Given the description of an element on the screen output the (x, y) to click on. 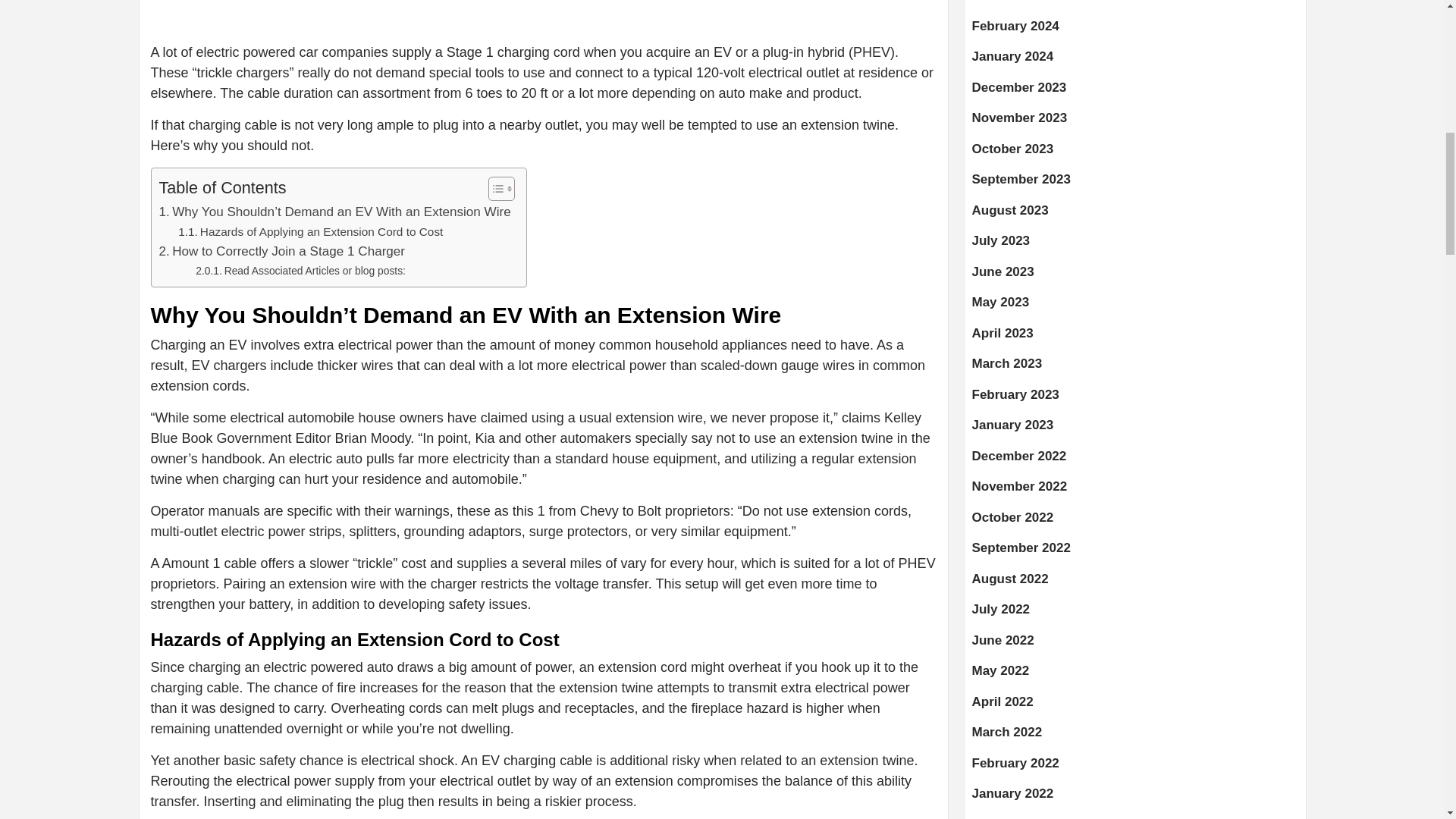
How to Correctly Join a Stage 1 Charger (282, 250)
How to Correctly Join a Stage 1 Charger (282, 250)
Read Associated Articles or blog posts: (300, 270)
Hazards of Applying an Extension Cord to Cost (309, 231)
March 2024 (1135, 8)
Hazards of Applying an Extension Cord to Cost (309, 231)
Read Associated Articles or blog posts: (300, 270)
